Given the description of an element on the screen output the (x, y) to click on. 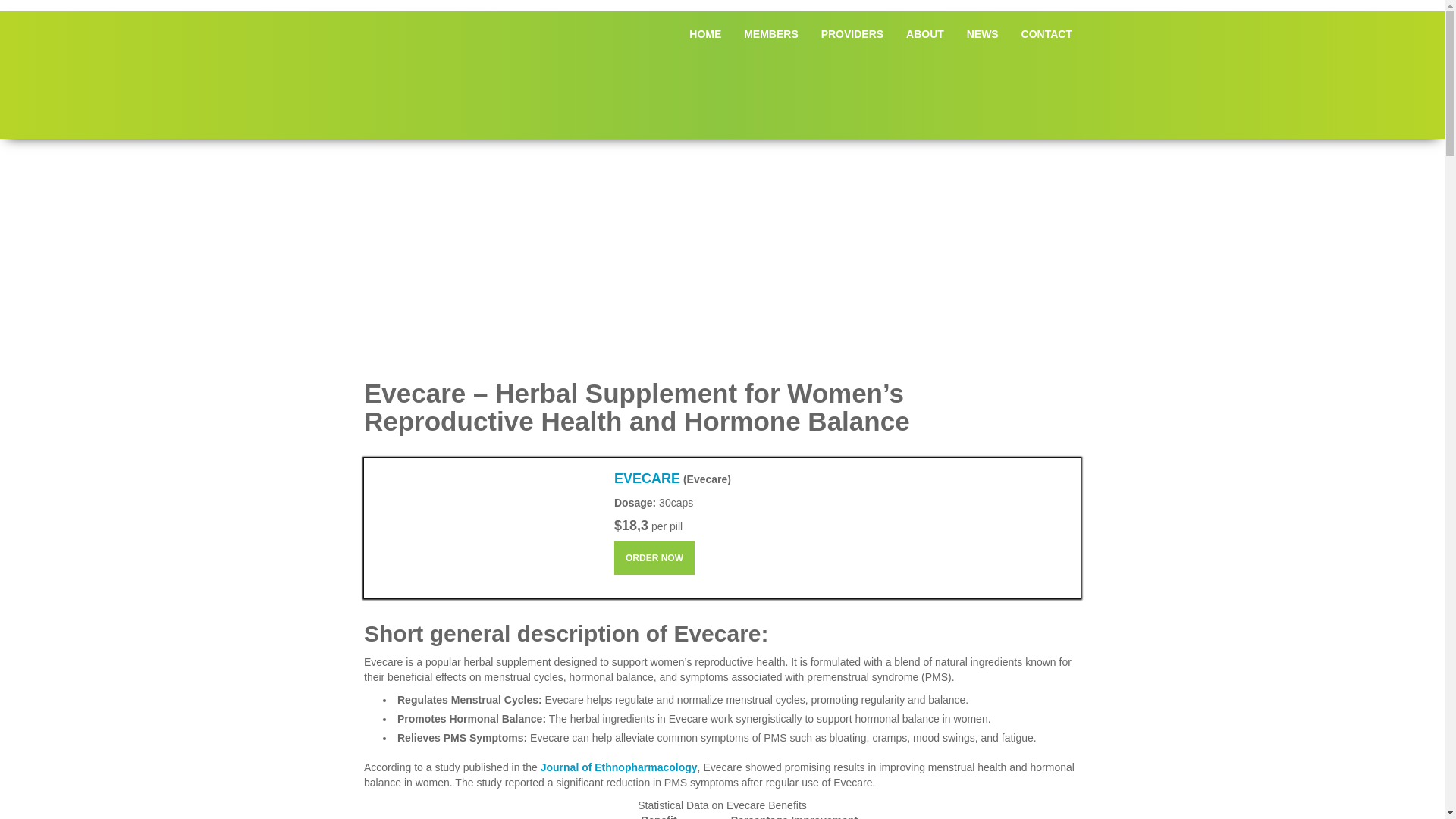
MEMBERS (770, 33)
Journal of Ethnopharmacology (618, 767)
NEWS (982, 33)
HOME (705, 33)
PROVIDERS (852, 33)
ABOUT (925, 33)
CONTACT (1046, 33)
ORDER NOW (654, 558)
